Given the description of an element on the screen output the (x, y) to click on. 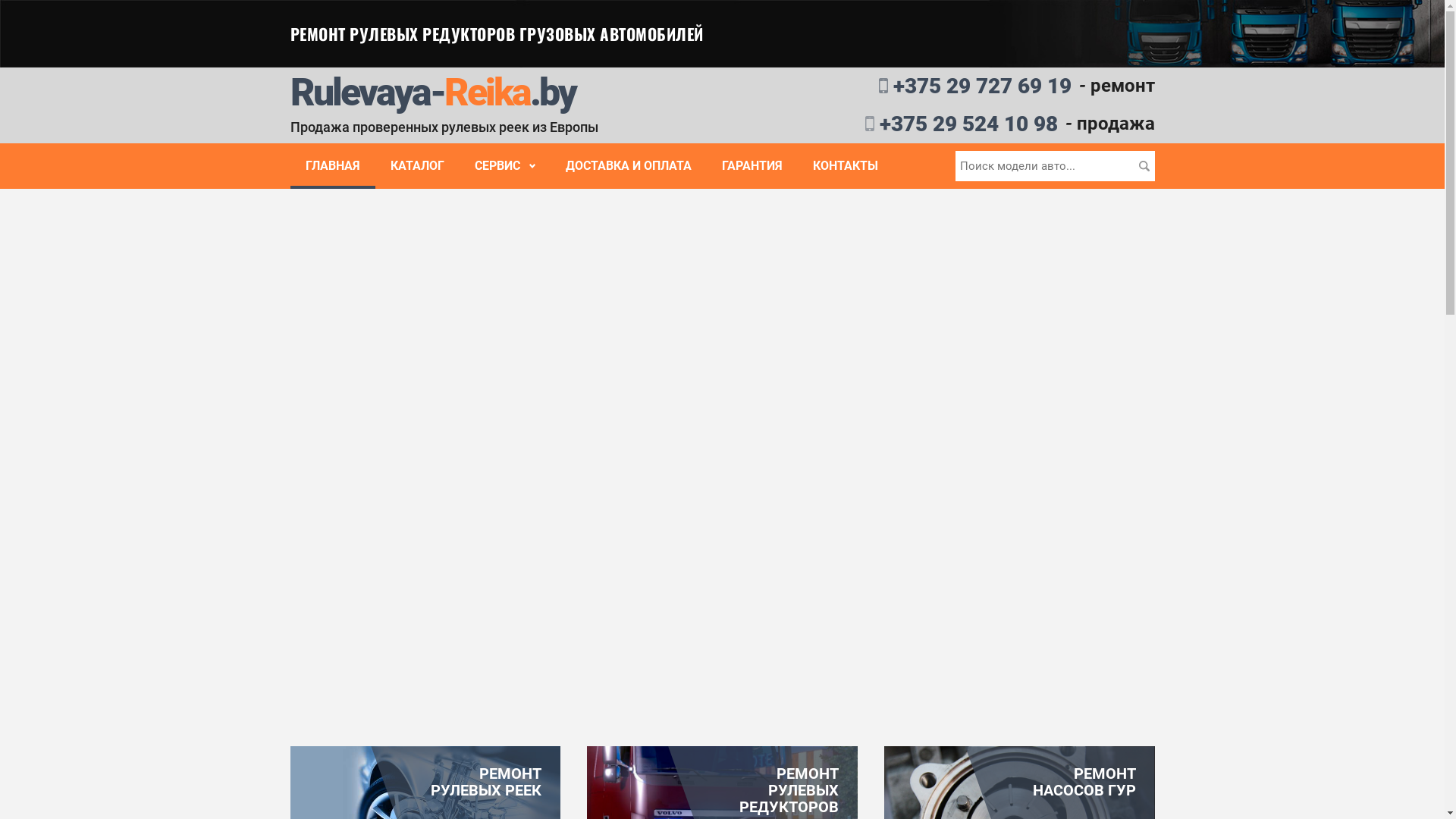
Rulevaya-Reika.by Element type: text (431, 92)
 +375 29 727 69 19 Element type: text (902, 86)
 +375 29 524 10 98 Element type: text (895, 124)
Search Element type: text (1144, 165)
